Given the description of an element on the screen output the (x, y) to click on. 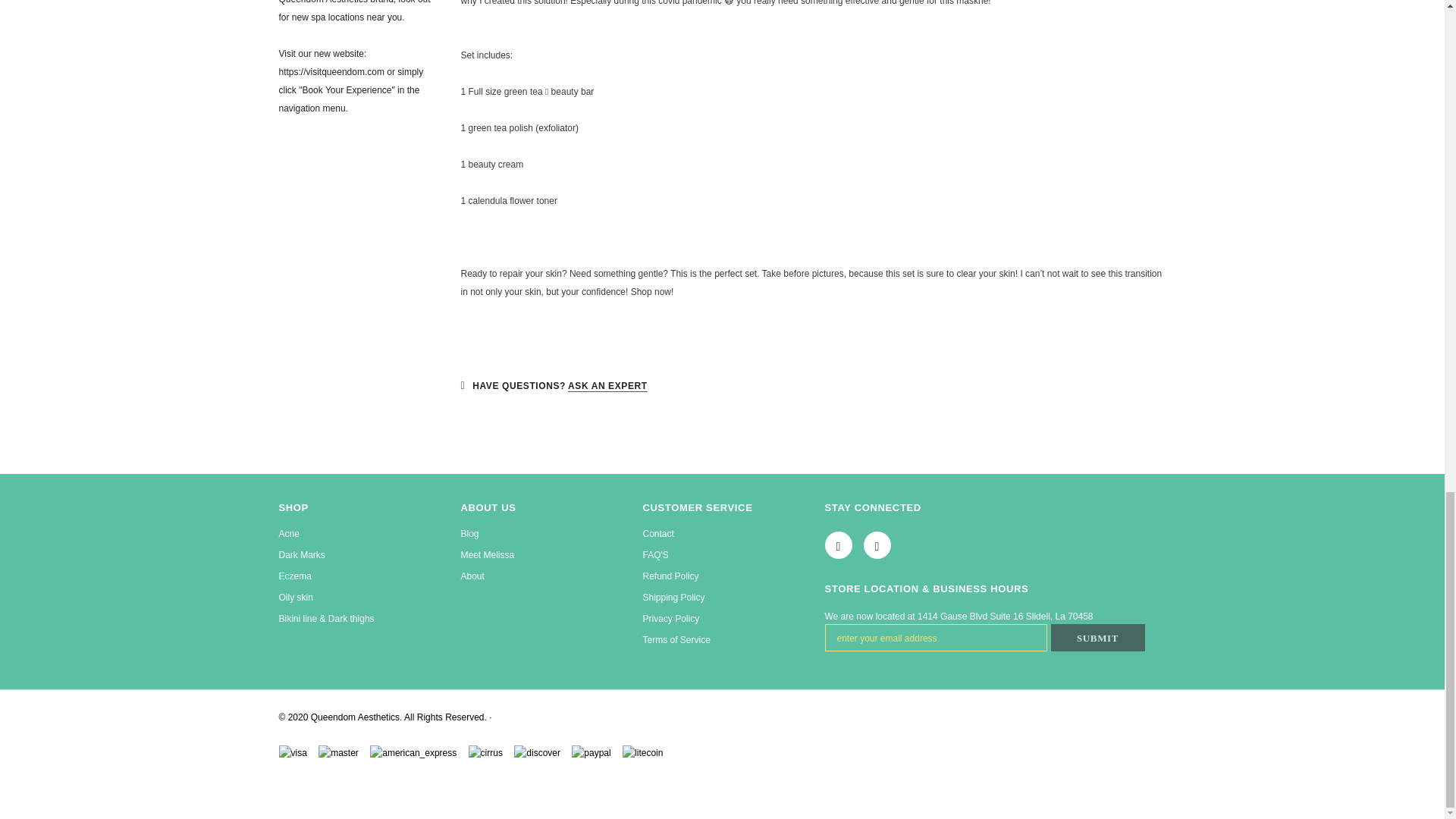
Submit (1097, 637)
